Given the description of an element on the screen output the (x, y) to click on. 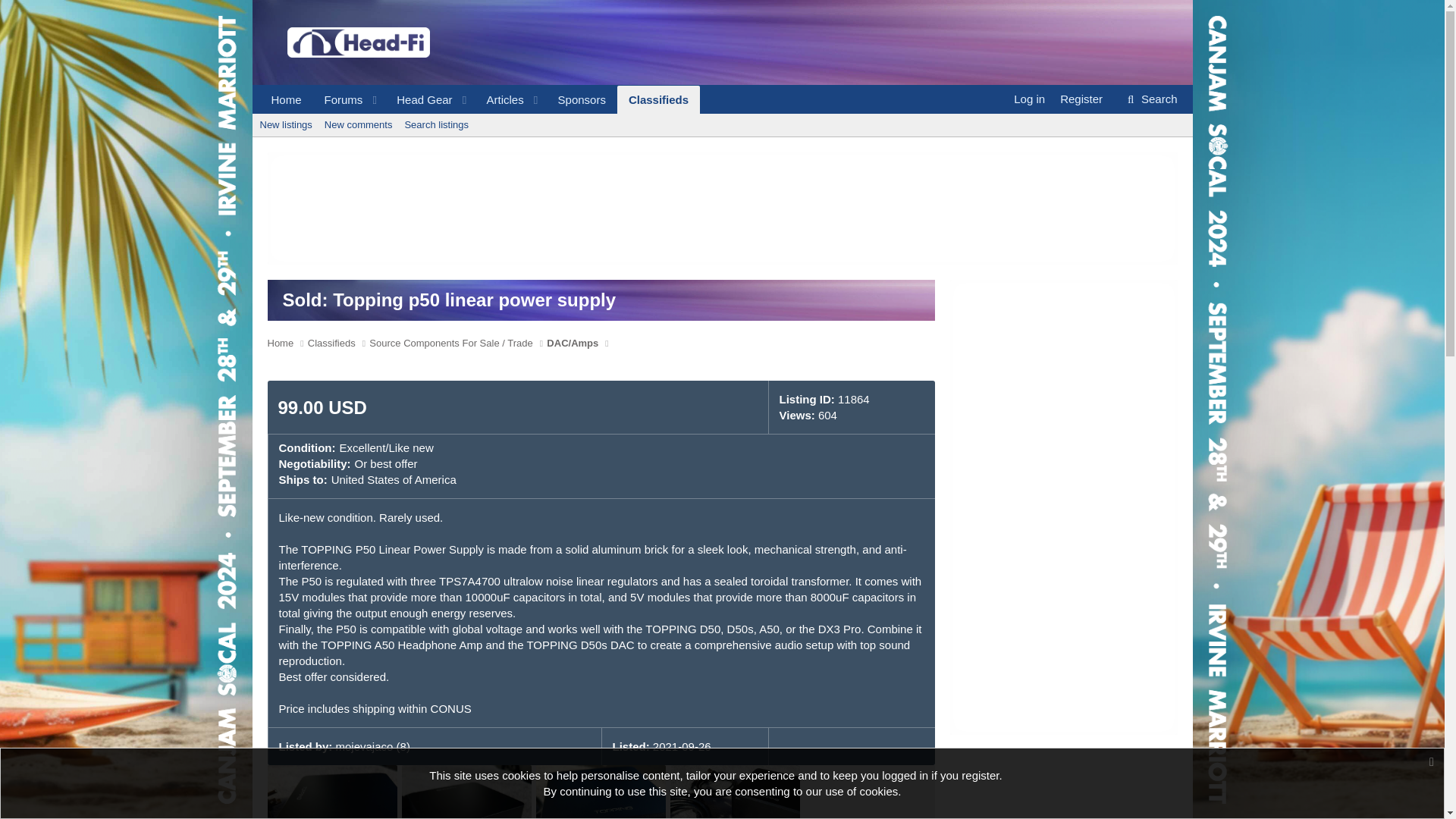
New listings (479, 99)
Search (285, 124)
Articles (1150, 99)
Register (499, 99)
Home (1080, 99)
Forums (286, 99)
Search listings (339, 99)
